Given the description of an element on the screen output the (x, y) to click on. 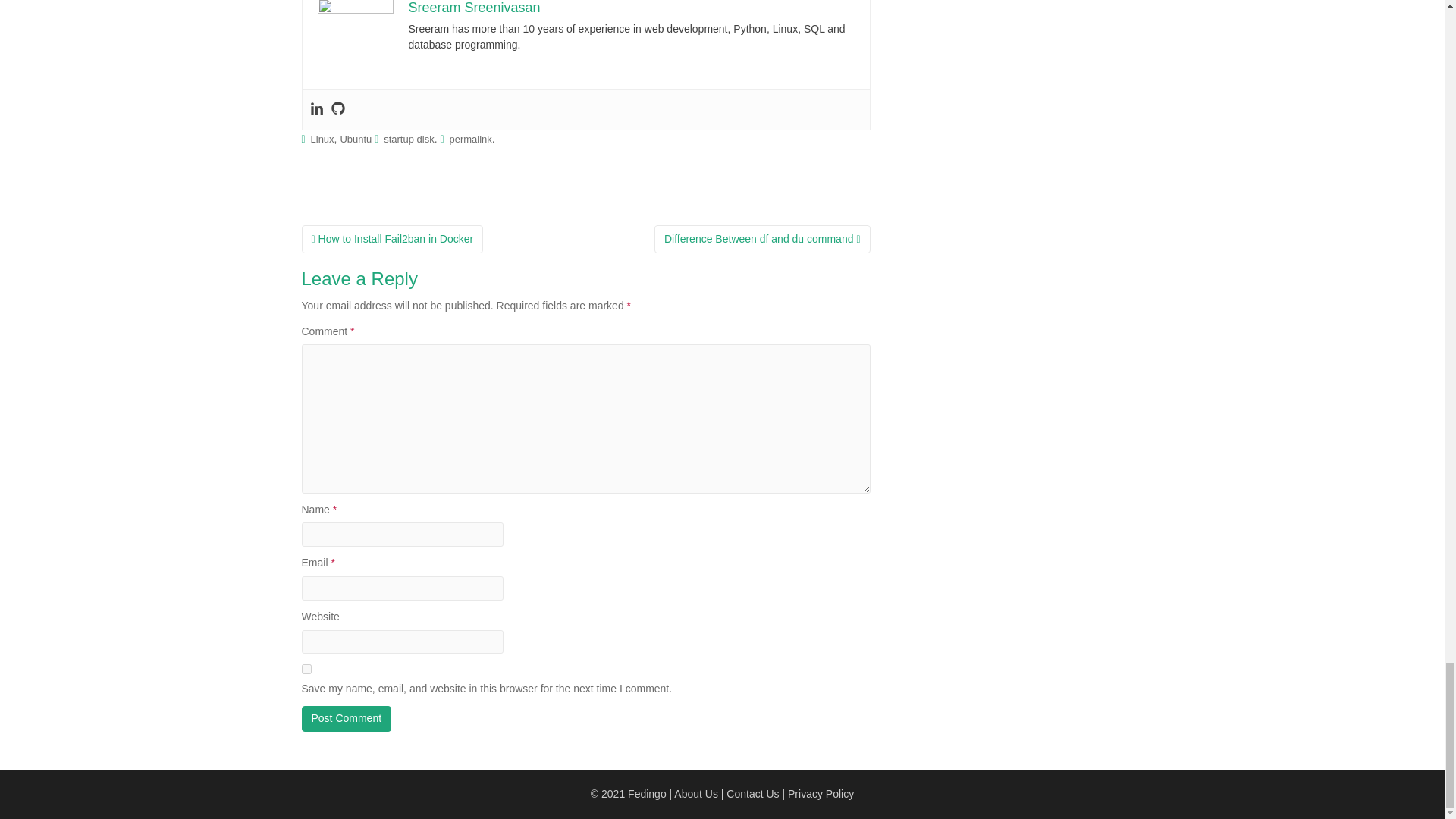
Post Comment (346, 718)
Difference Between df and du command (761, 239)
Linkedin (315, 109)
Github (336, 109)
Post Comment (346, 718)
yes (306, 669)
Sreeram Sreenivasan (473, 7)
Linux (322, 138)
How to Install Fail2ban in Docker (392, 239)
Ubuntu (355, 138)
permalink (470, 138)
startup disk (408, 138)
